Given the description of an element on the screen output the (x, y) to click on. 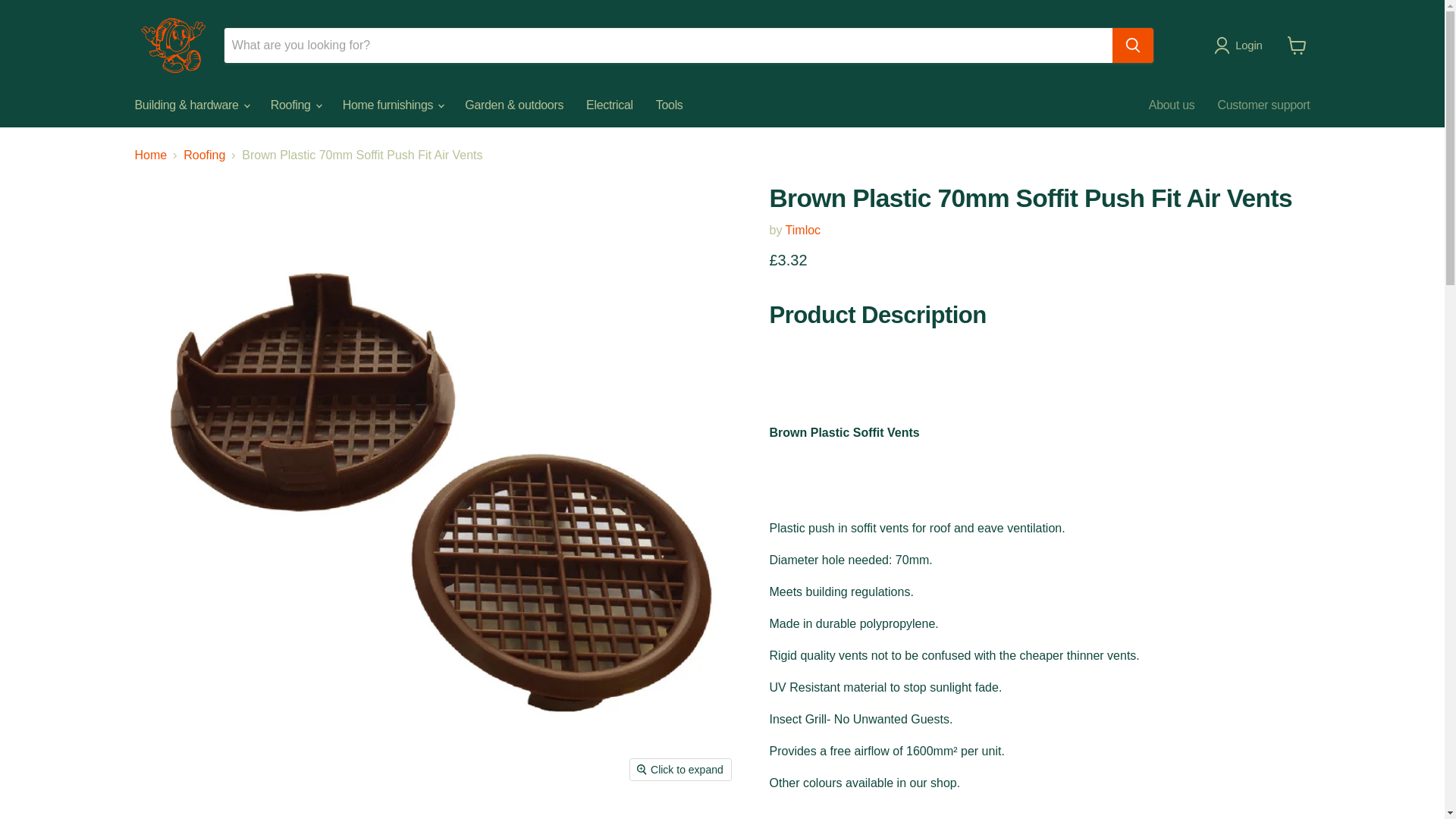
Customer support (1262, 105)
Electrical (610, 105)
Tools (669, 105)
View cart (1296, 45)
About us (1172, 105)
Login (1241, 45)
Timloc (803, 229)
